Given the description of an element on the screen output the (x, y) to click on. 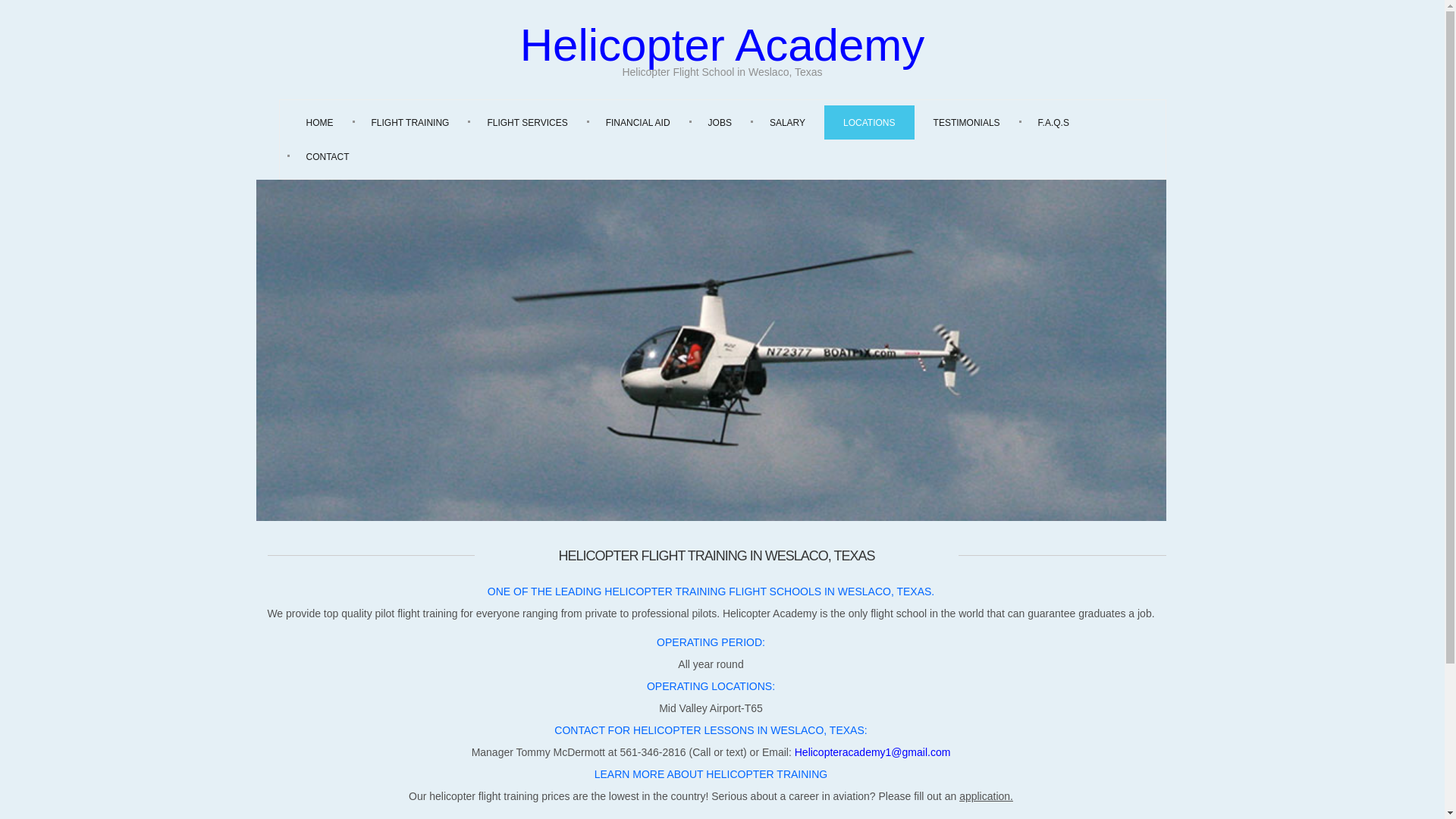
Helicopter Pay (787, 122)
JOBS (719, 122)
Flight Services (526, 122)
SALARY (787, 122)
CONTACT (327, 156)
FLIGHT SERVICES (526, 122)
HOME (319, 122)
FLIGHT TRAINING (409, 122)
FINANCIAL AID (637, 122)
Helicopter School Locations (869, 122)
Helicopter flight training (409, 122)
Student Testimonials (966, 122)
Finacial Aid (637, 122)
LOCATIONS (869, 122)
